Given the description of an element on the screen output the (x, y) to click on. 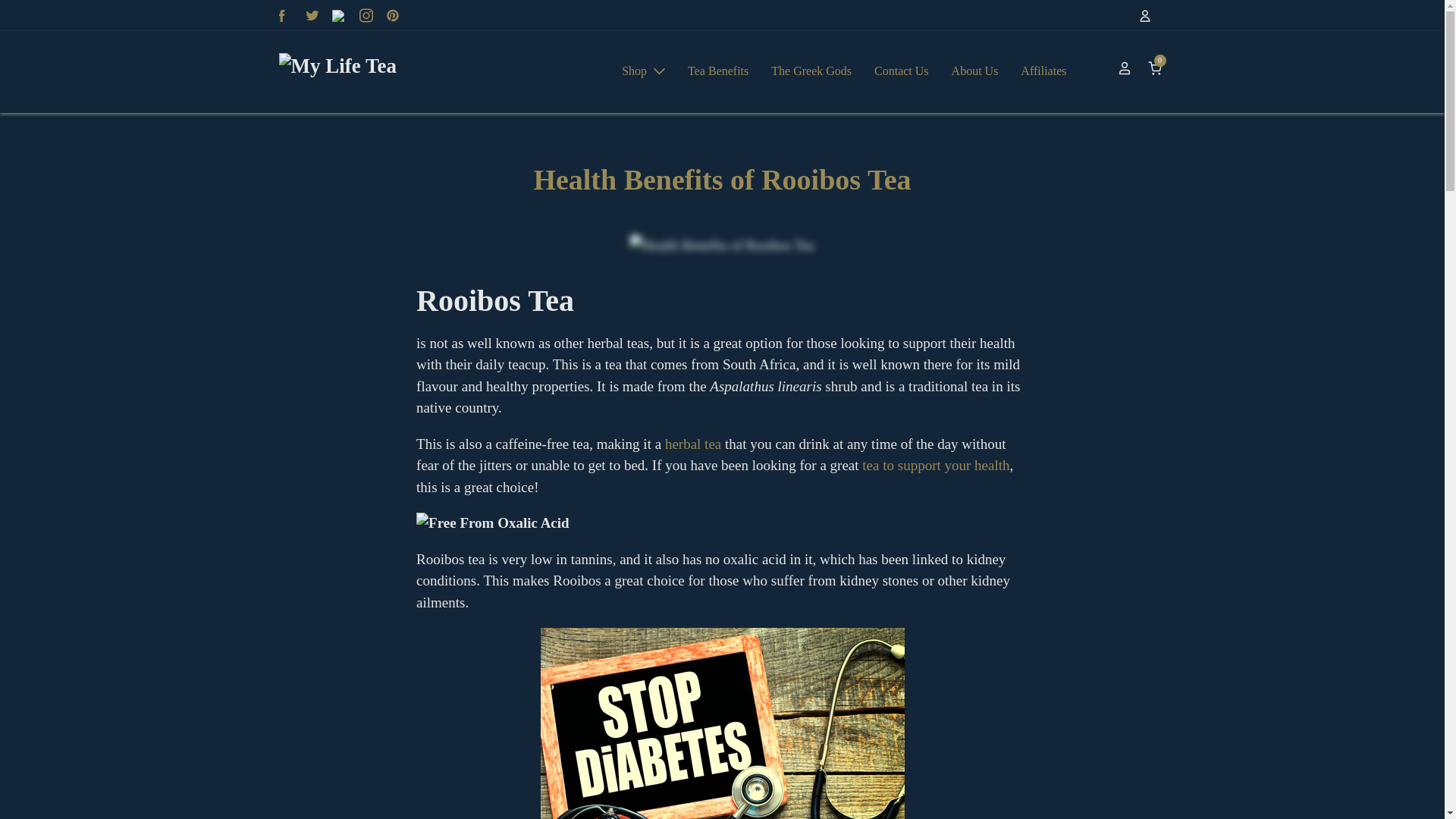
Affiliates (1043, 71)
herbal tea (692, 443)
0 (1154, 70)
Contact Us (901, 71)
Tea Benefits (718, 71)
Shop (643, 71)
About Us (975, 71)
The Greek Gods (811, 71)
tea to support your health (935, 465)
